Given the description of an element on the screen output the (x, y) to click on. 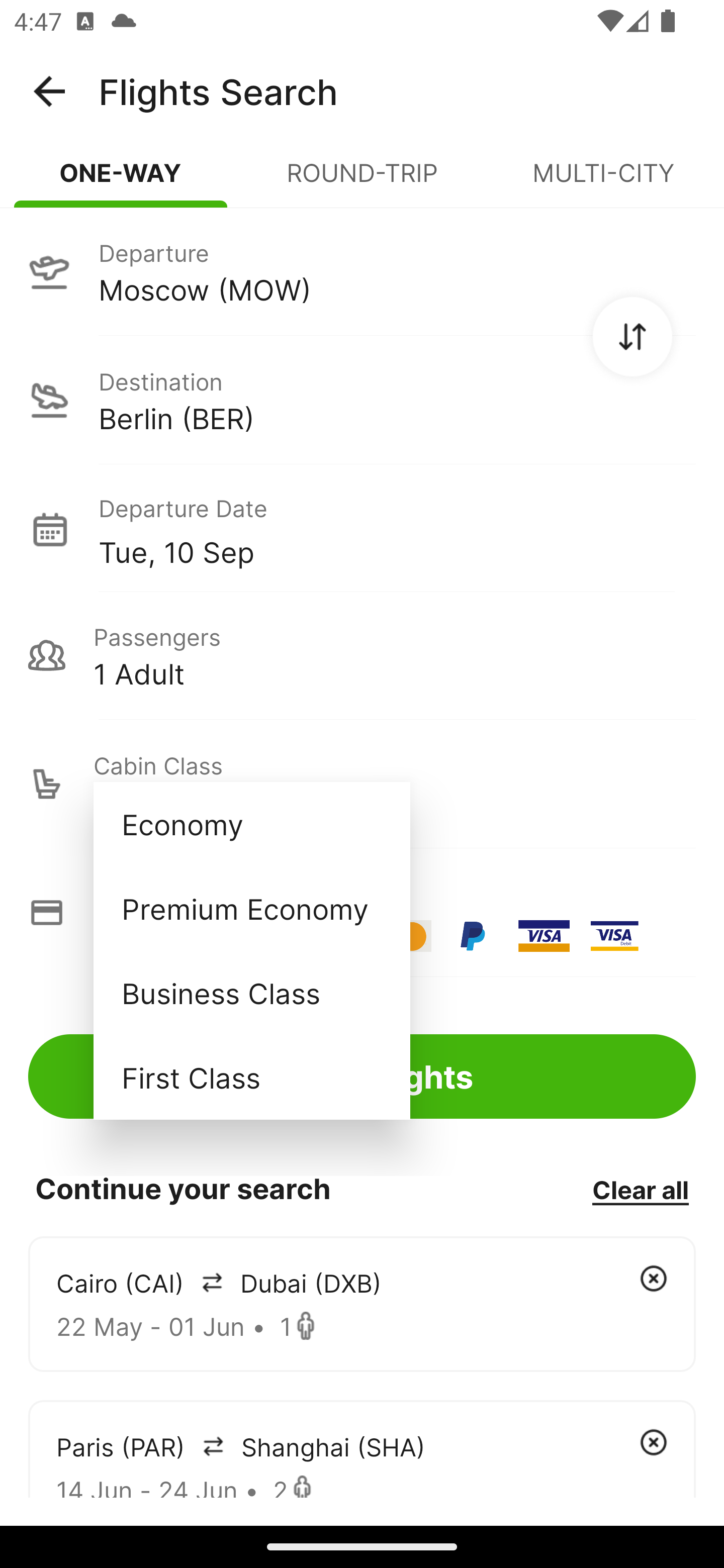
Economy (251, 824)
Premium Economy (251, 908)
Business Class (251, 992)
First Class (251, 1076)
